Given the description of an element on the screen output the (x, y) to click on. 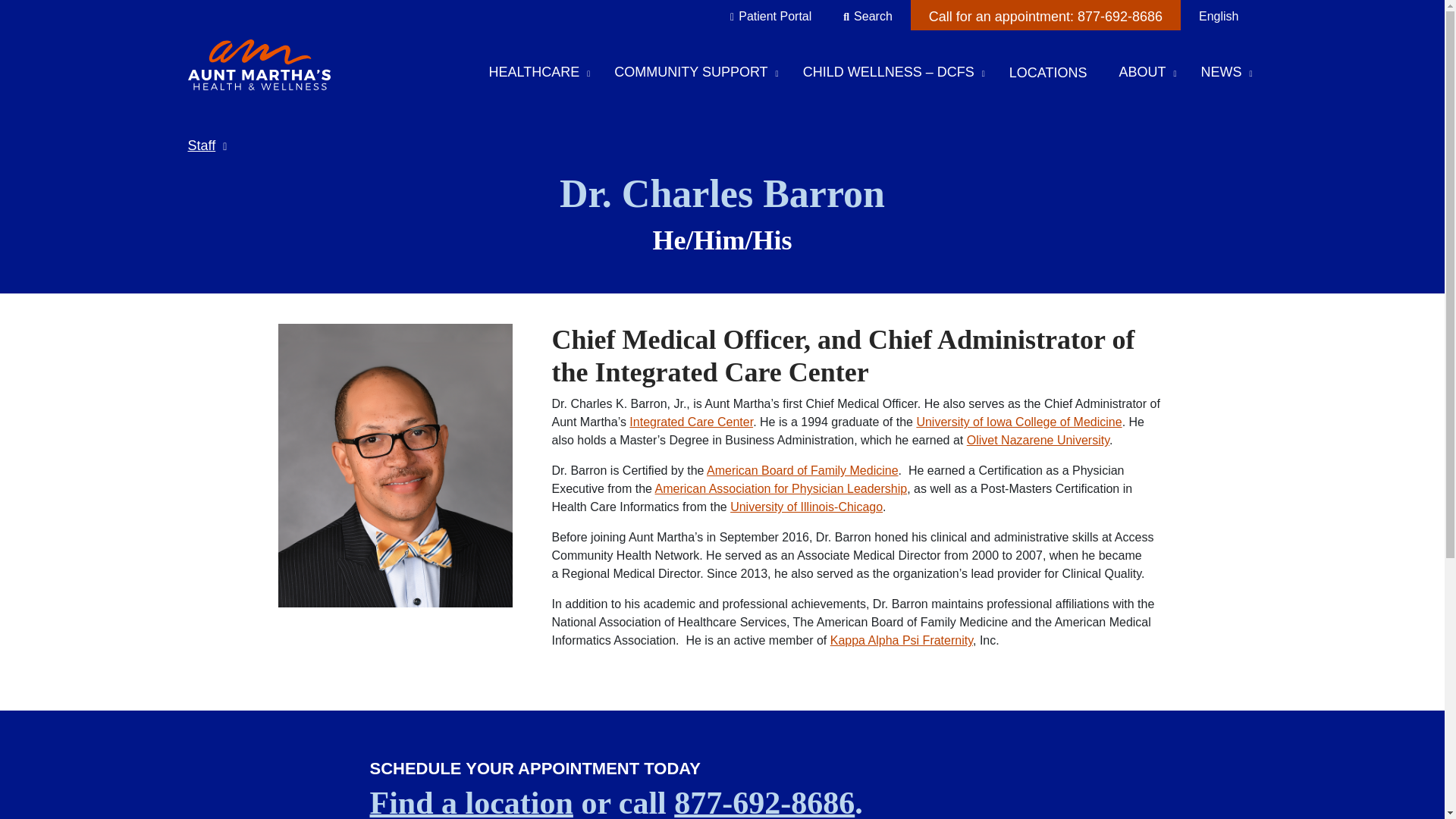
English (1218, 22)
HEALTHCARE (536, 73)
English (1218, 22)
COMMUNITY SUPPORT (692, 73)
Call for an appointment: 877-692-8686 (1045, 15)
Search (873, 16)
Patient Portal (774, 16)
